Given the description of an element on the screen output the (x, y) to click on. 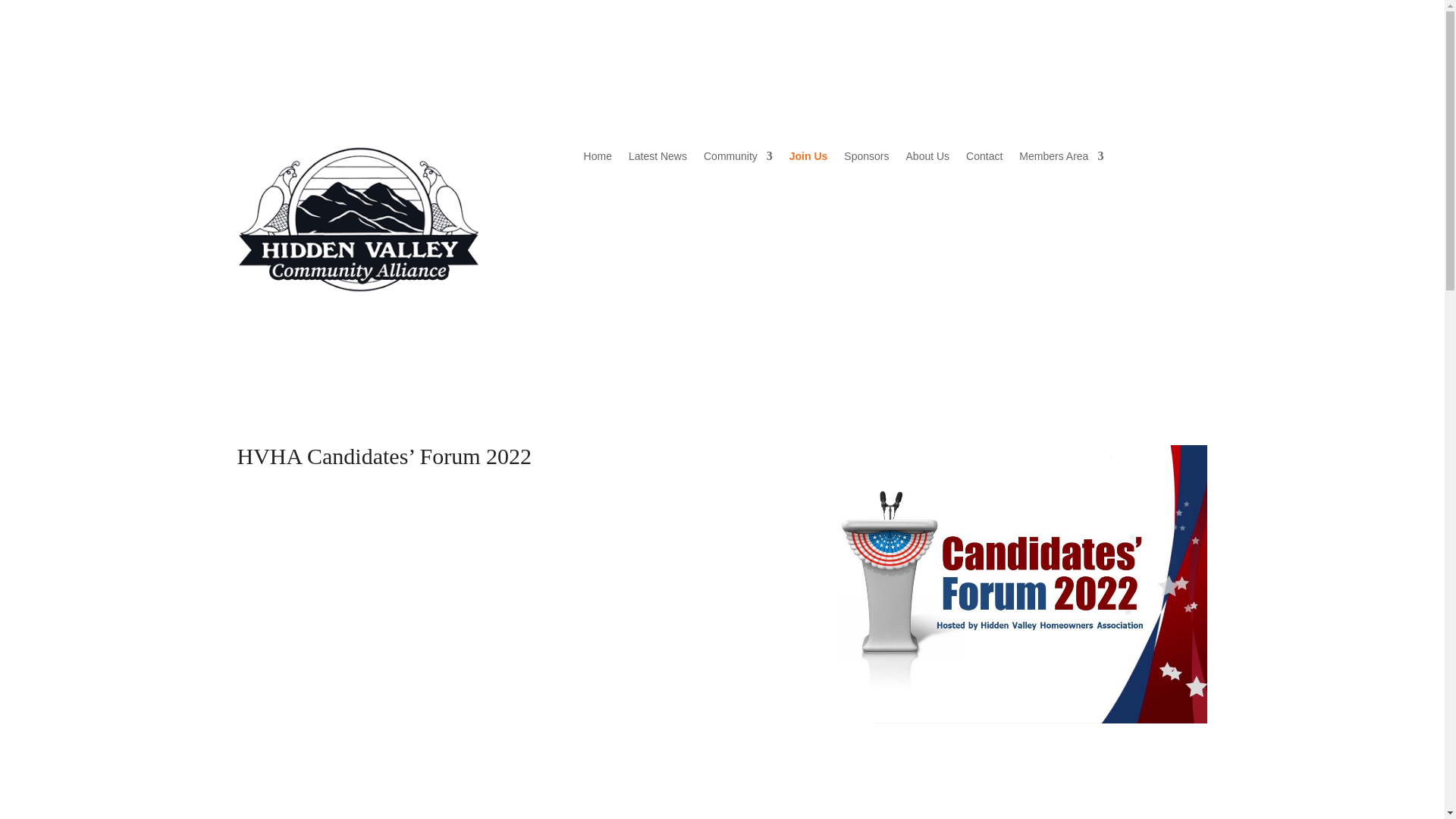
Latest News (657, 158)
Community (738, 158)
Members Area (1061, 158)
Home (597, 158)
Join Us (808, 158)
About Us (927, 158)
Contact (984, 158)
Sponsors (866, 158)
